Given the description of an element on the screen output the (x, y) to click on. 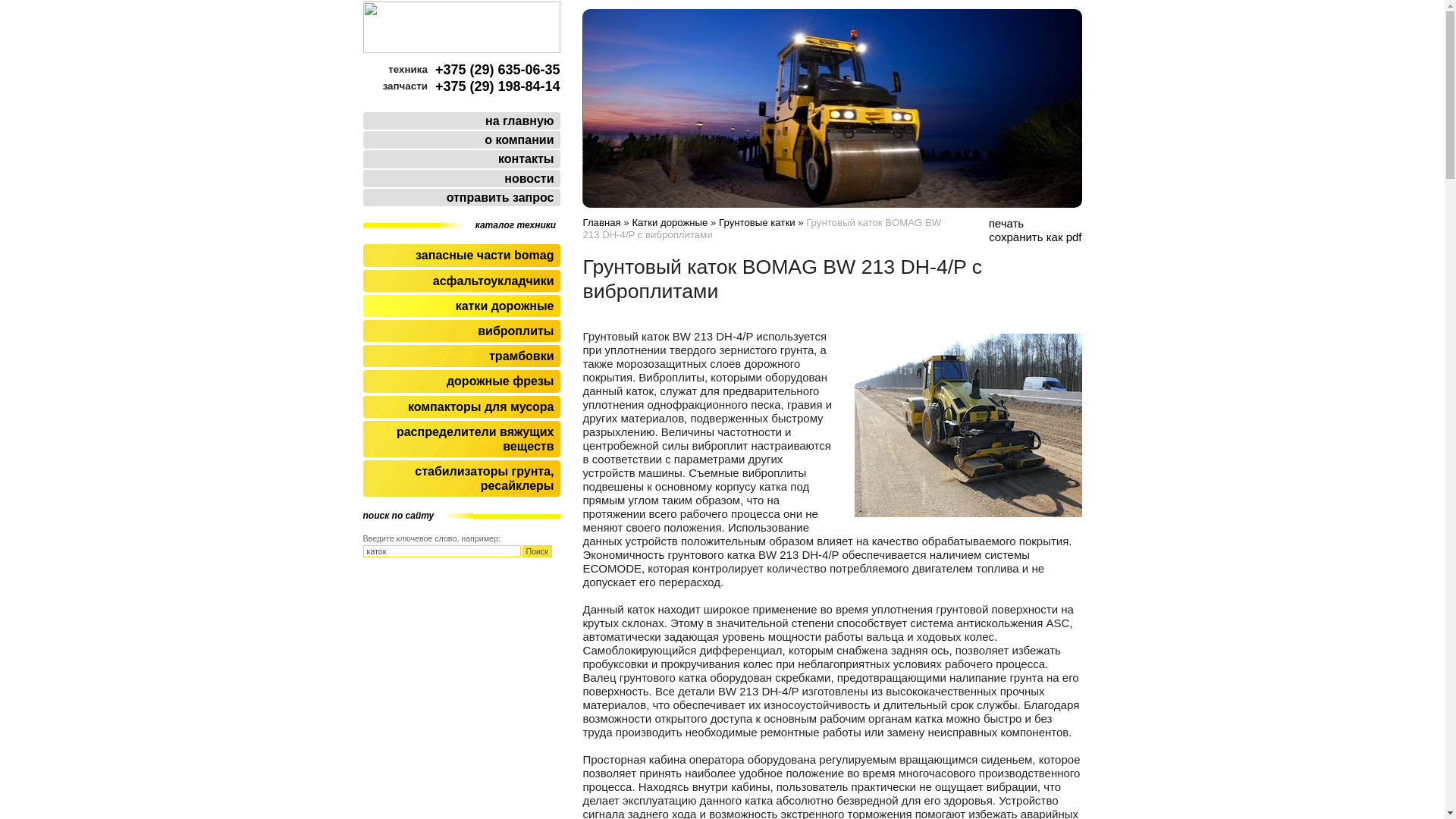
+375 (29) 635-06-35 Element type: text (497, 69)
+375 (29) 198-84-14 Element type: text (497, 86)
